Given the description of an element on the screen output the (x, y) to click on. 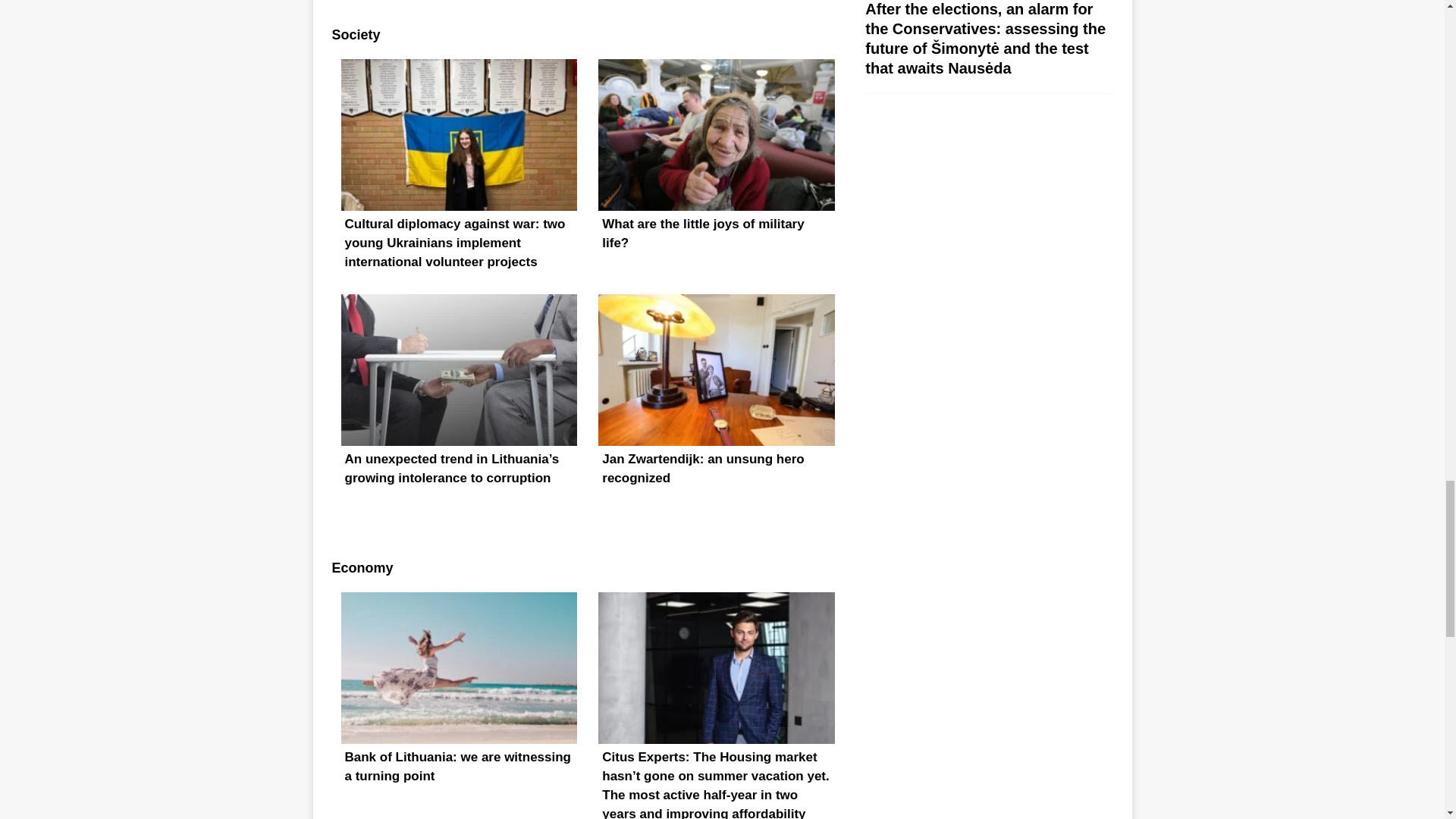
Jan Zwartendijk: an unsung hero recognized (716, 411)
What are the little joys of military life? (716, 176)
